Given the description of an element on the screen output the (x, y) to click on. 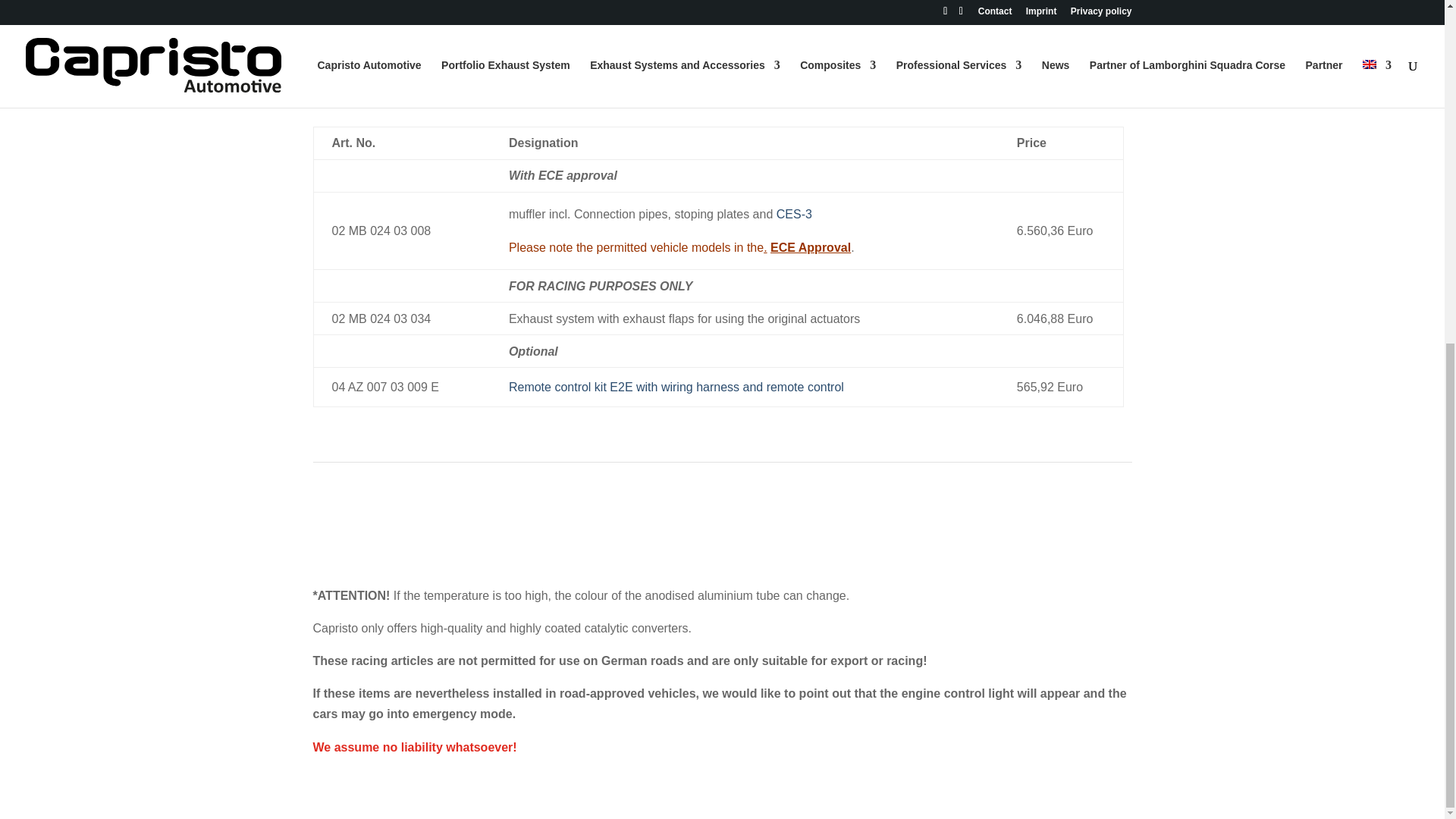
CES-3 (794, 214)
ECE Approval (810, 246)
CES-3 (440, 39)
